Given the description of an element on the screen output the (x, y) to click on. 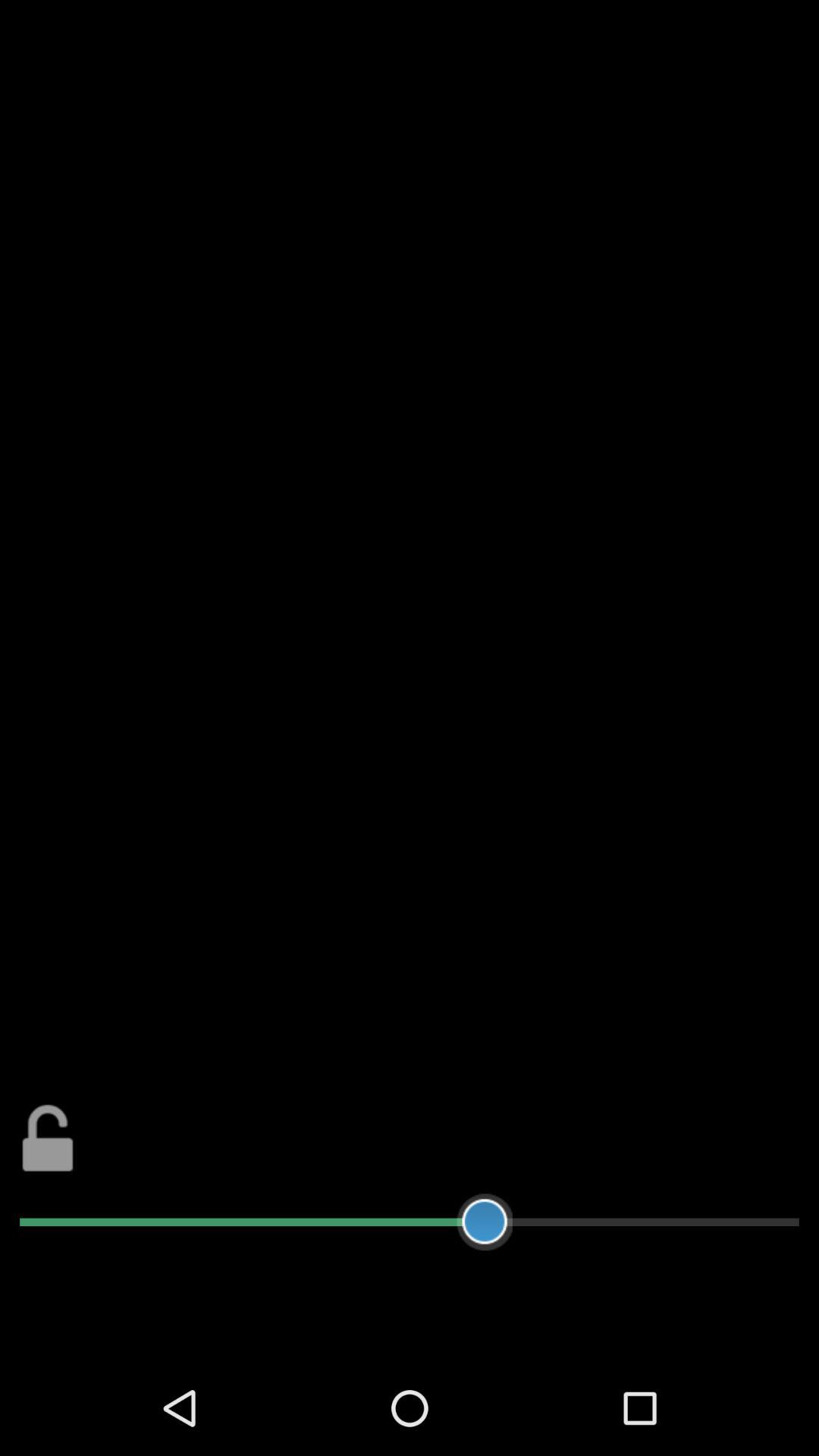
lock (47, 1137)
